Given the description of an element on the screen output the (x, y) to click on. 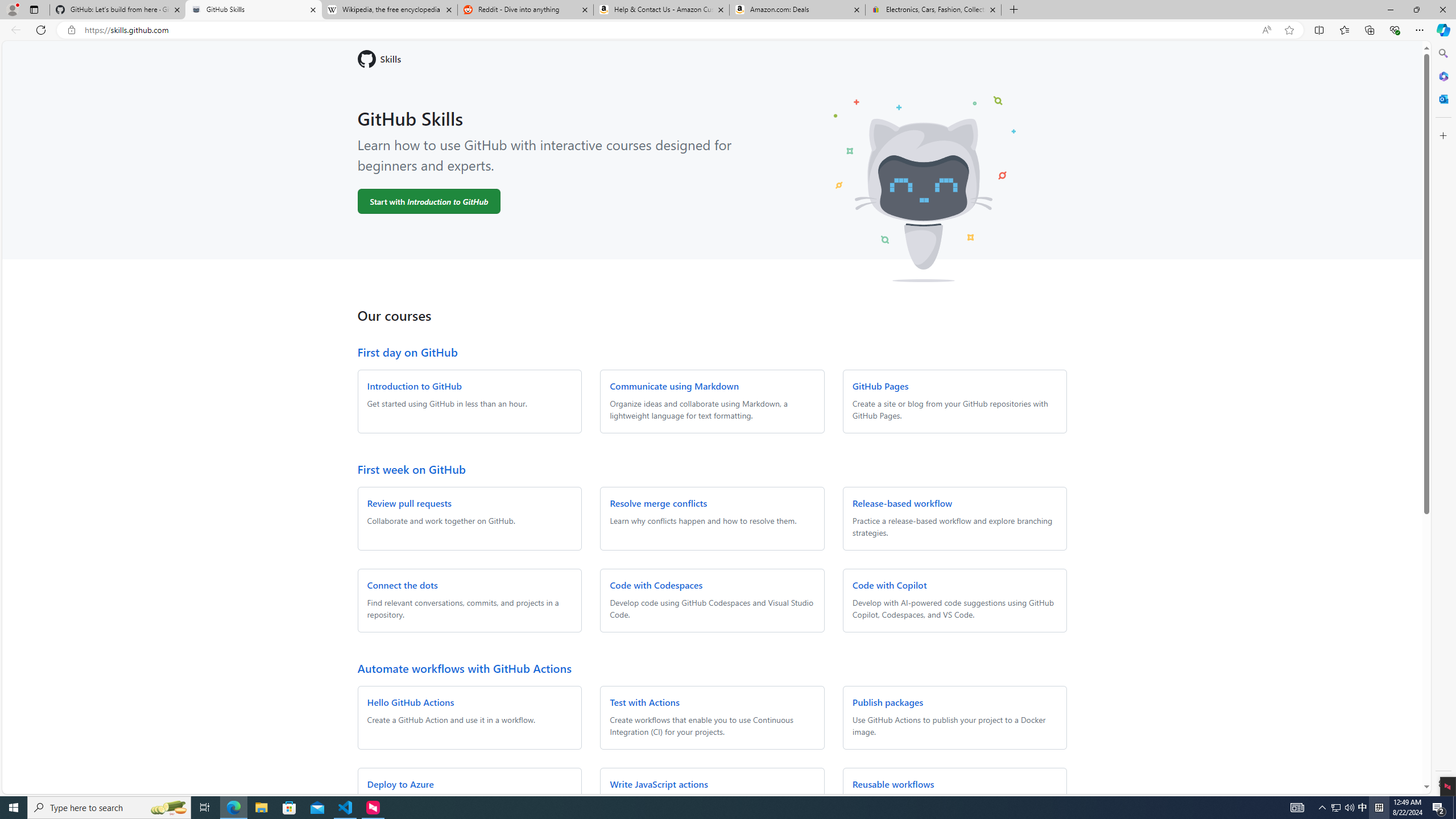
Deploy to Azure (399, 784)
Review pull requests (408, 503)
First week on GitHub (410, 468)
Hello GitHub Actions (410, 702)
Automate workflows with GitHub Actions (464, 667)
Code with Copilot (889, 585)
First day on GitHub (406, 351)
